Given the description of an element on the screen output the (x, y) to click on. 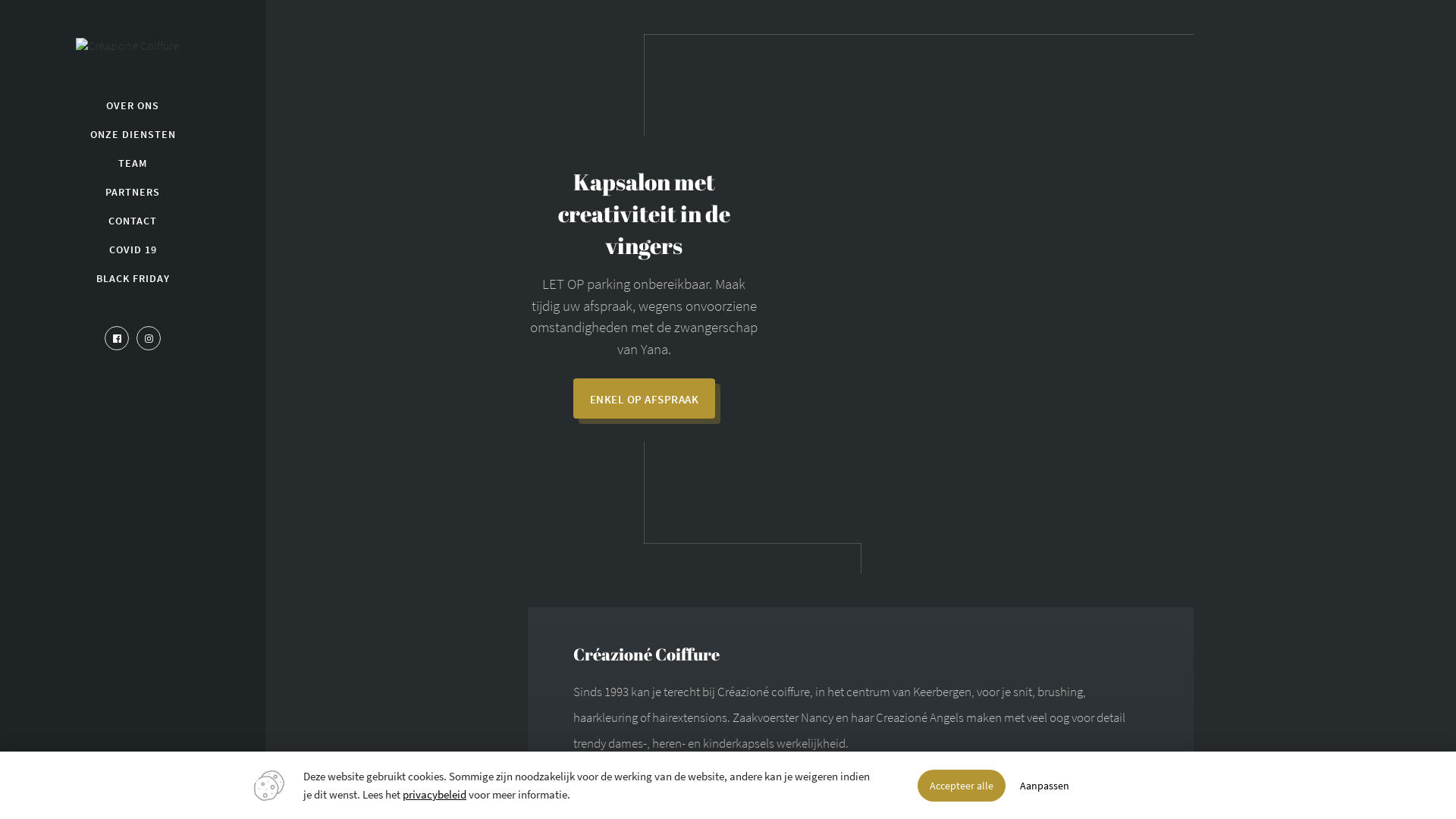
Accepteer alle Element type: text (961, 785)
privacybeleid Element type: text (434, 794)
OVER ONS Element type: text (132, 105)
CONTACT Element type: text (132, 220)
BLACK FRIDAY Element type: text (132, 277)
COVID 19 Element type: text (132, 249)
PARTNERS Element type: text (132, 191)
Aanpassen Element type: text (1044, 785)
ONZE DIENSTEN Element type: text (132, 133)
ENKEL OP AFSPRAAK Element type: text (644, 398)
TEAM Element type: text (132, 162)
